Given the description of an element on the screen output the (x, y) to click on. 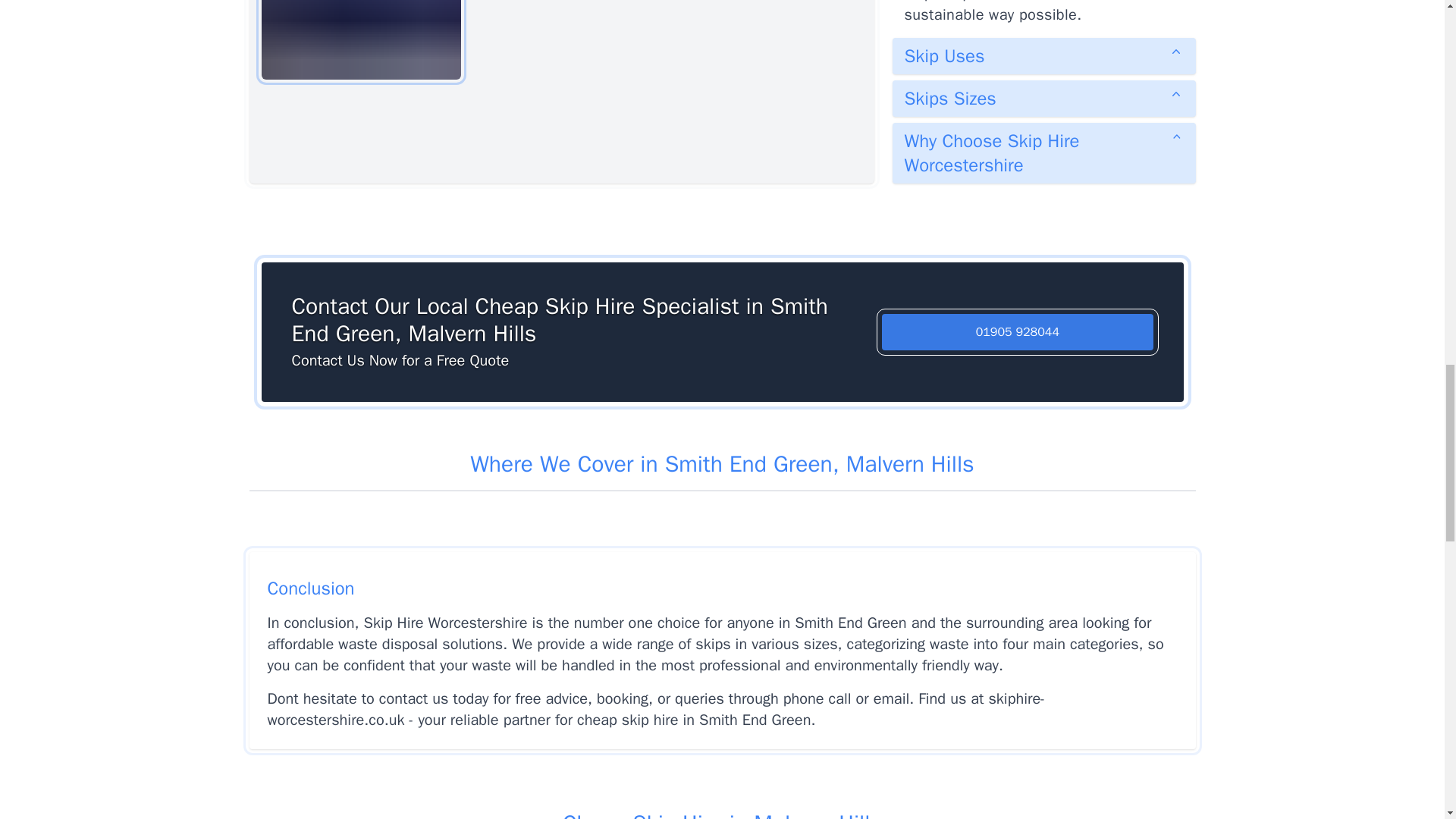
01905 928044 (1017, 331)
Skips Sizes (1043, 98)
Skip Uses (1043, 55)
Why Choose Skip Hire Worcestershire (1043, 152)
